Given the description of an element on the screen output the (x, y) to click on. 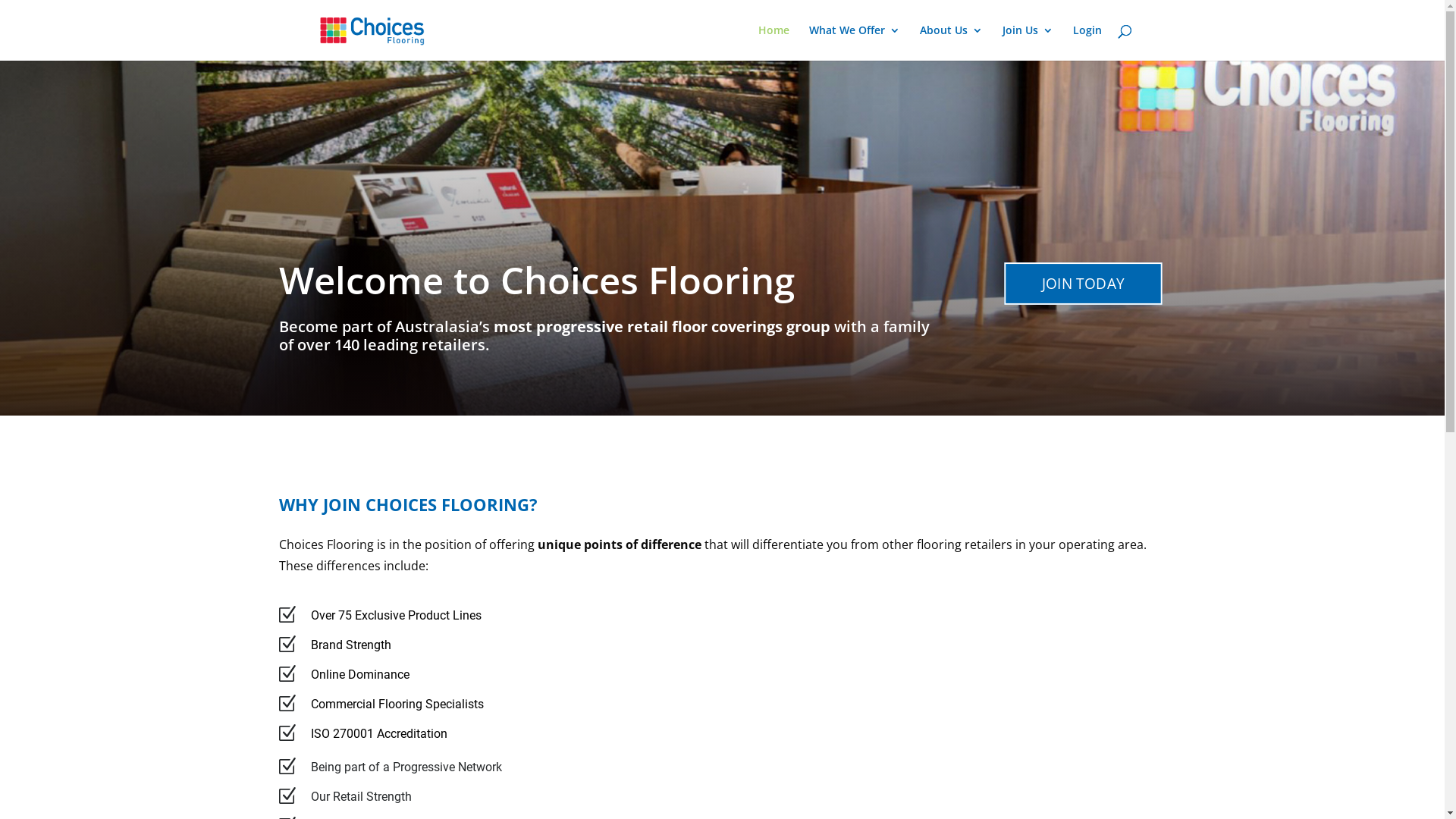
Home Element type: text (773, 42)
JOIN TODAY Element type: text (1086, 284)
About Us Element type: text (950, 42)
What We Offer Element type: text (853, 42)
Login Element type: text (1086, 42)
Join Us Element type: text (1027, 42)
